Given the description of an element on the screen output the (x, y) to click on. 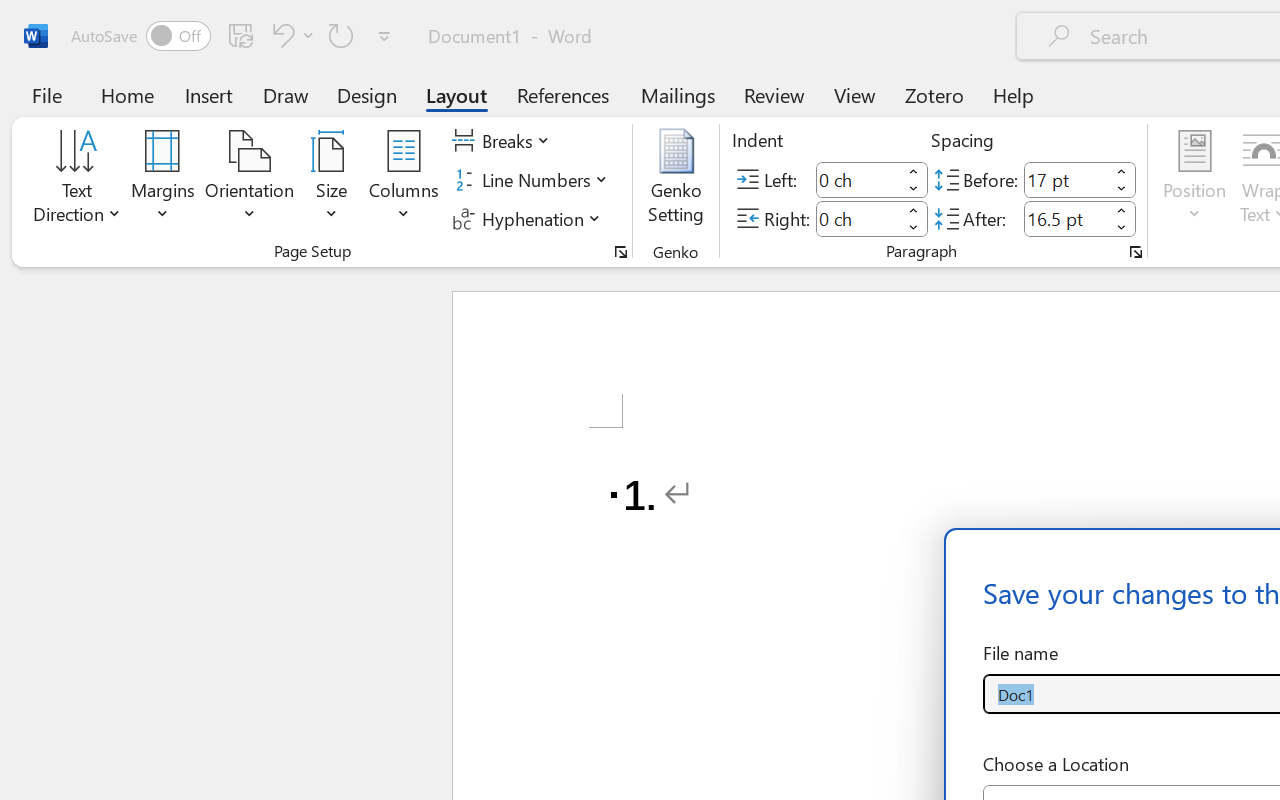
Position (1194, 179)
Text Direction (77, 179)
Less (1121, 227)
Spacing After (1066, 218)
Size (331, 179)
Genko Setting... (676, 179)
Indent Right (858, 218)
More (1121, 210)
